Given the description of an element on the screen output the (x, y) to click on. 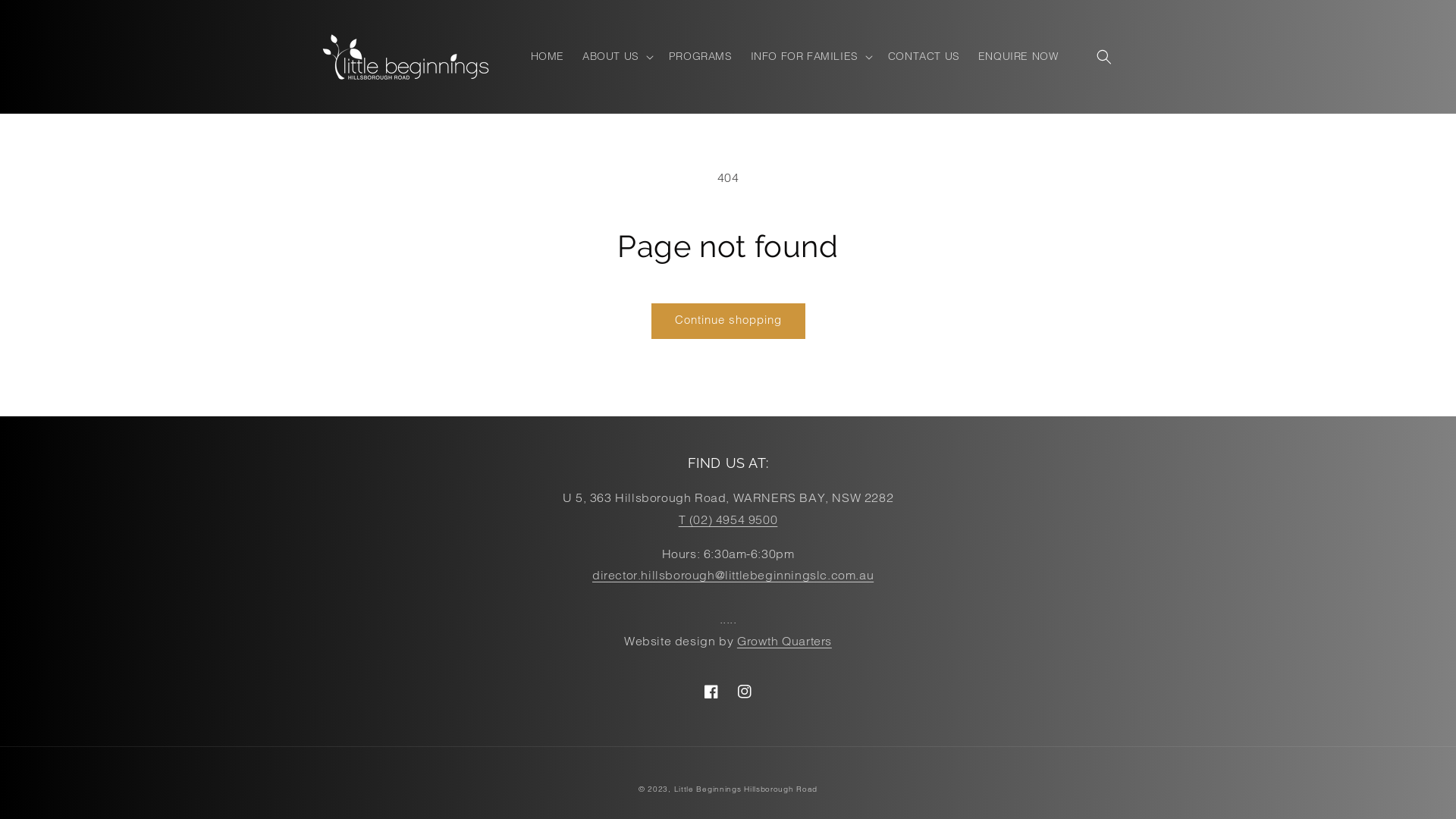
T (02) 4954 9500 Element type: text (728, 519)
ENQUIRE NOW Element type: text (1018, 56)
Continue shopping Element type: text (728, 321)
Facebook Element type: text (711, 691)
Little Beginnings Hillsborough Road Element type: text (746, 788)
PROGRAMS Element type: text (700, 56)
HOME Element type: text (547, 56)
Growth Quarters Element type: text (784, 640)
Instagram Element type: text (744, 691)
CONTACT US Element type: text (923, 56)
Cart Element type: text (1137, 55)
director.hillsborough@littlebeginningslc.com.au Element type: text (732, 574)
